Given the description of an element on the screen output the (x, y) to click on. 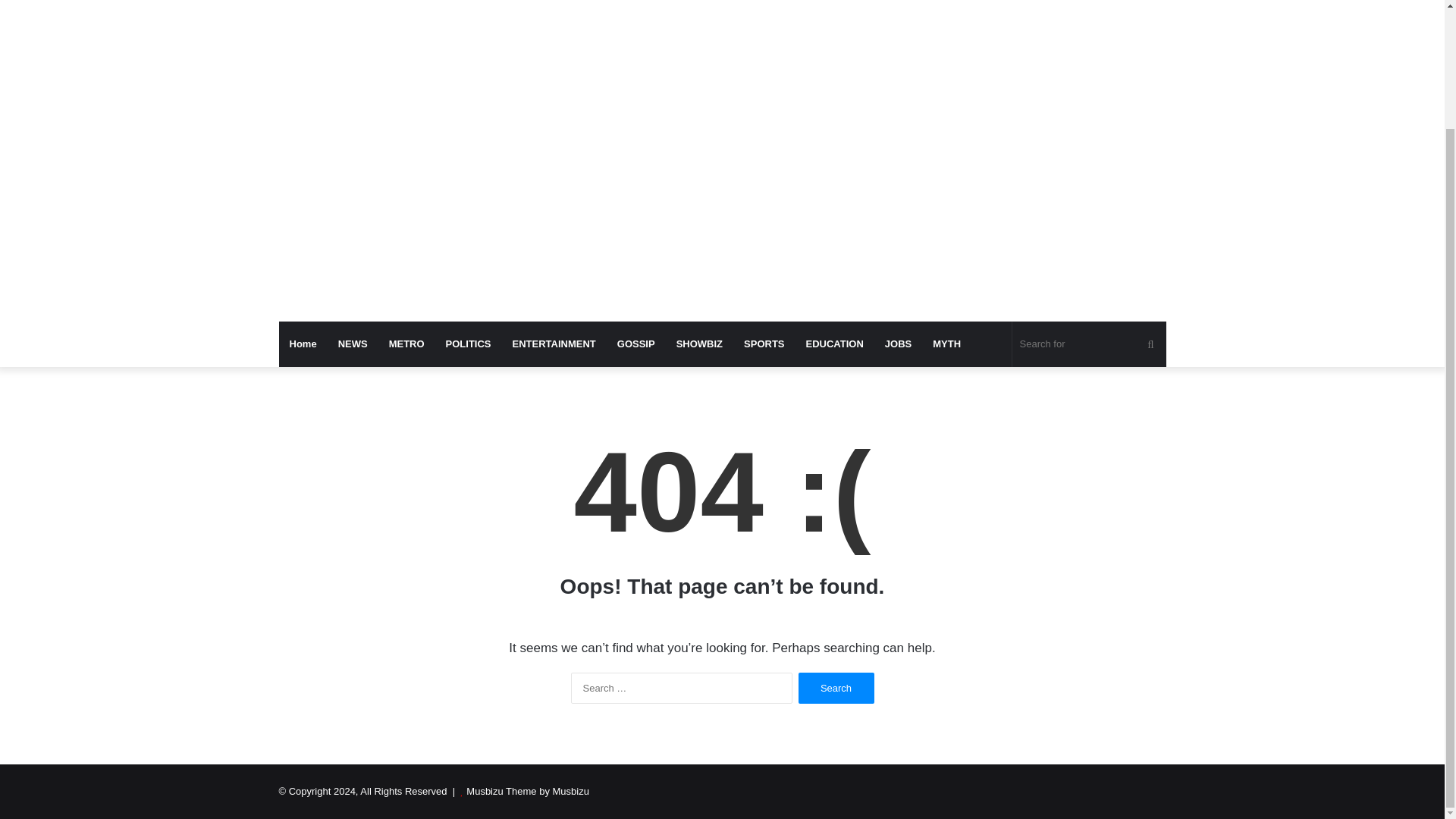
Search (835, 687)
ENTERTAINMENT (554, 343)
MYTH (946, 343)
POLITICS (468, 343)
NEWS (352, 343)
Musbizu (419, 4)
Search (835, 687)
METRO (406, 343)
Musbizu Theme by Musbizu (527, 790)
EDUCATION (834, 343)
Home (303, 343)
GOSSIP (636, 343)
SHOWBIZ (699, 343)
Search for (1088, 343)
